Given the description of an element on the screen output the (x, y) to click on. 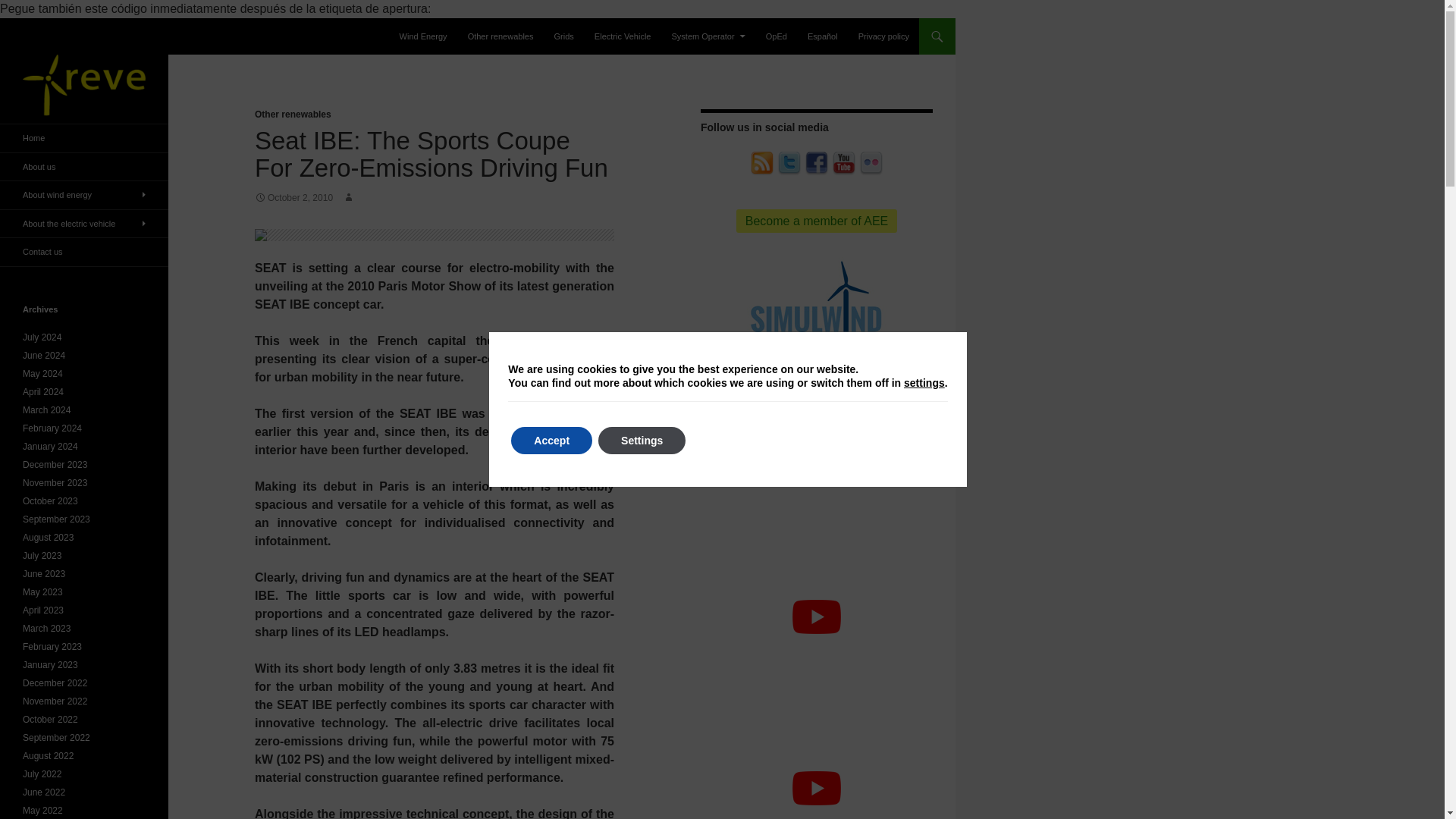
youtube (843, 163)
Grids (563, 36)
Other renewables (500, 36)
Become a member of AEE (817, 220)
RSS (761, 163)
youtube (843, 162)
October 2, 2010 (293, 197)
facebook (816, 162)
flickr (871, 163)
flickr (871, 162)
twitter (789, 162)
Other renewables (292, 113)
Electric Vehicle (623, 36)
Privacy policy (883, 36)
